Given the description of an element on the screen output the (x, y) to click on. 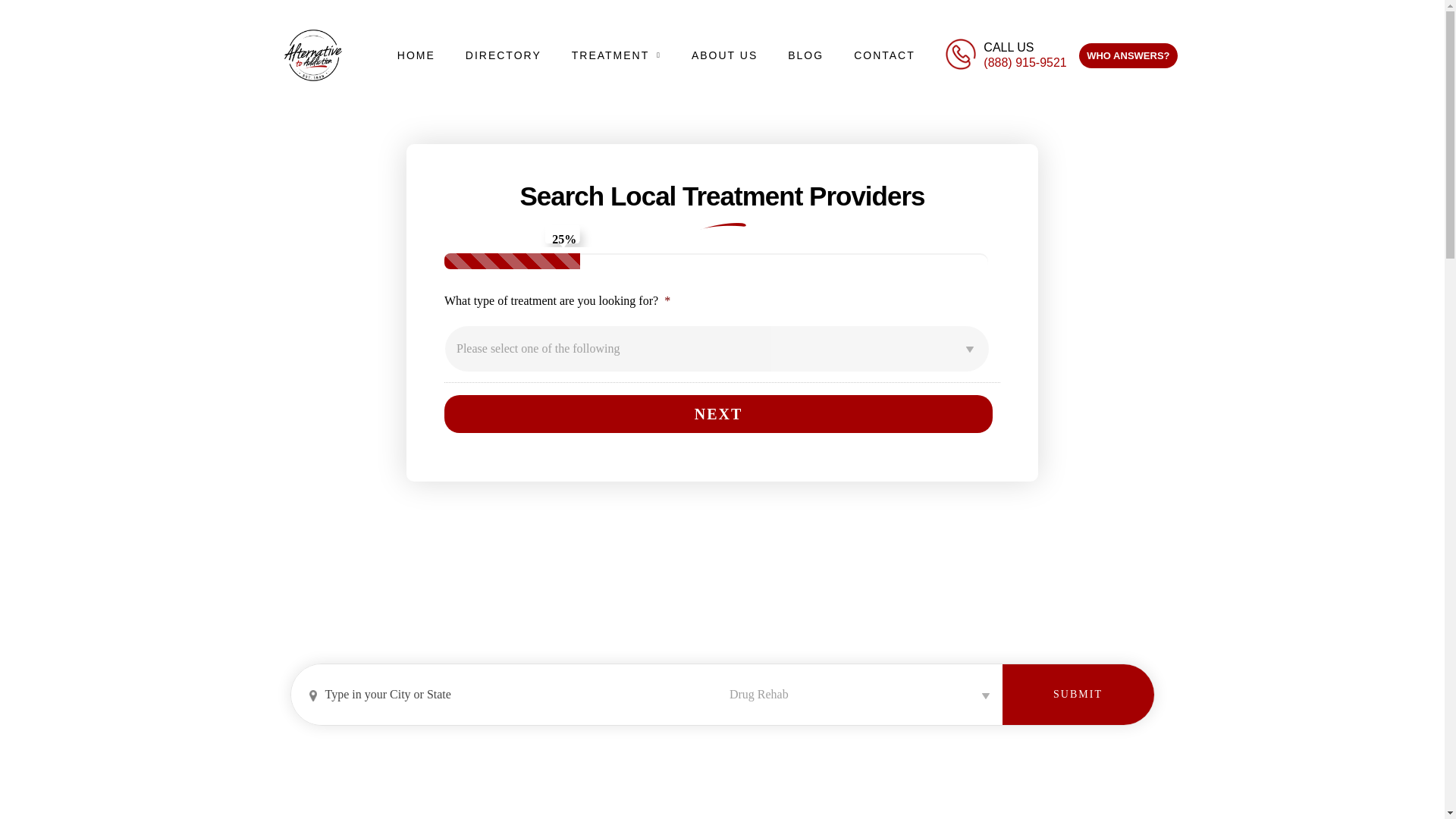
DIRECTORY (502, 54)
TREATMENT (616, 54)
Next (718, 413)
BLOG (805, 54)
HOME (415, 54)
CONTACT (884, 54)
Submit (1078, 694)
ABOUT US (725, 54)
alternative final (312, 54)
